Given the description of an element on the screen output the (x, y) to click on. 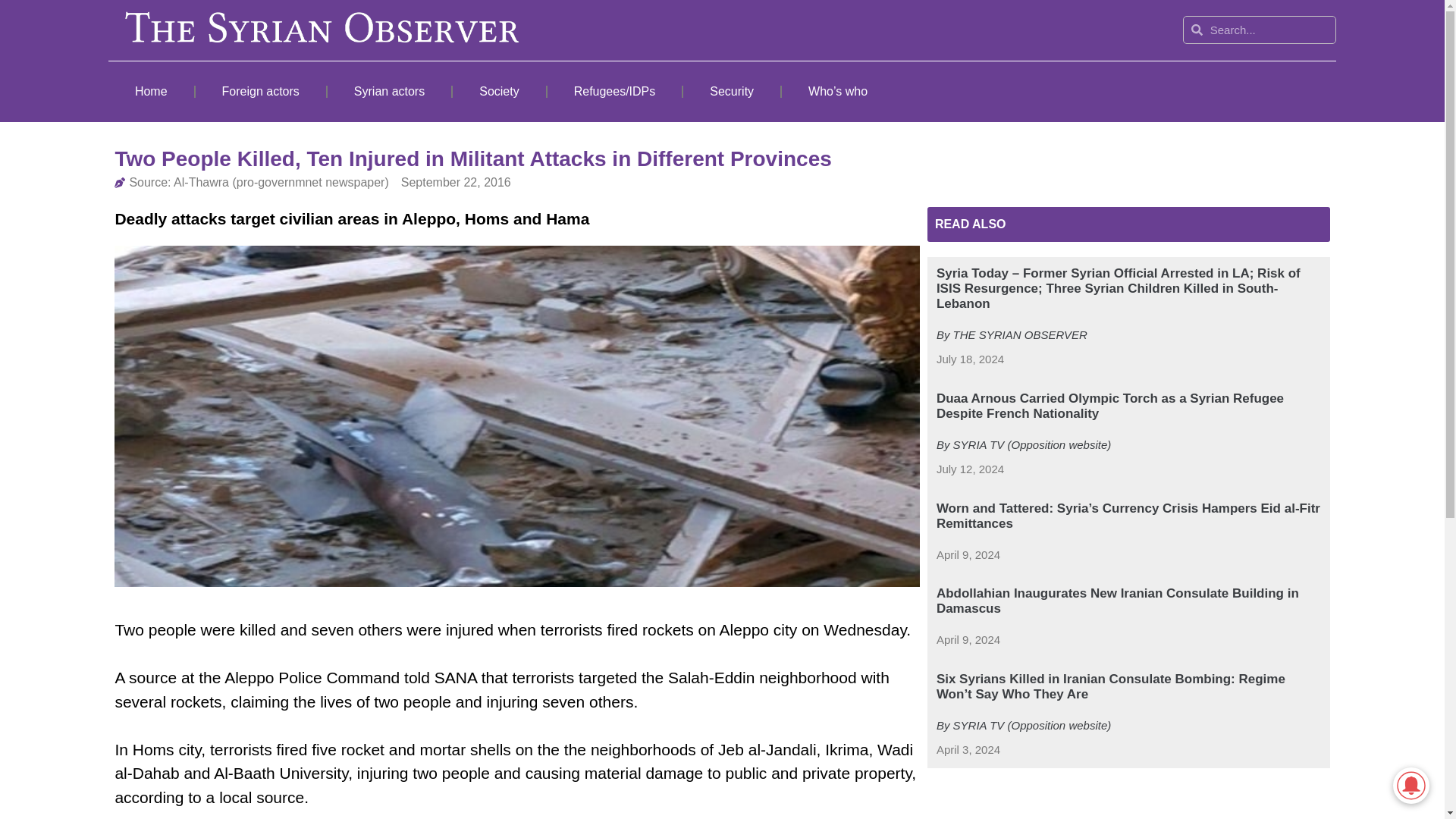
April 9, 2024 (968, 555)
Security (731, 91)
Society (498, 91)
July 12, 2024 (970, 469)
Foreign actors (260, 91)
July 18, 2024 (970, 359)
Home (150, 91)
April 3, 2024 (968, 750)
Syrian actors (389, 91)
April 9, 2024 (968, 640)
